Given the description of an element on the screen output the (x, y) to click on. 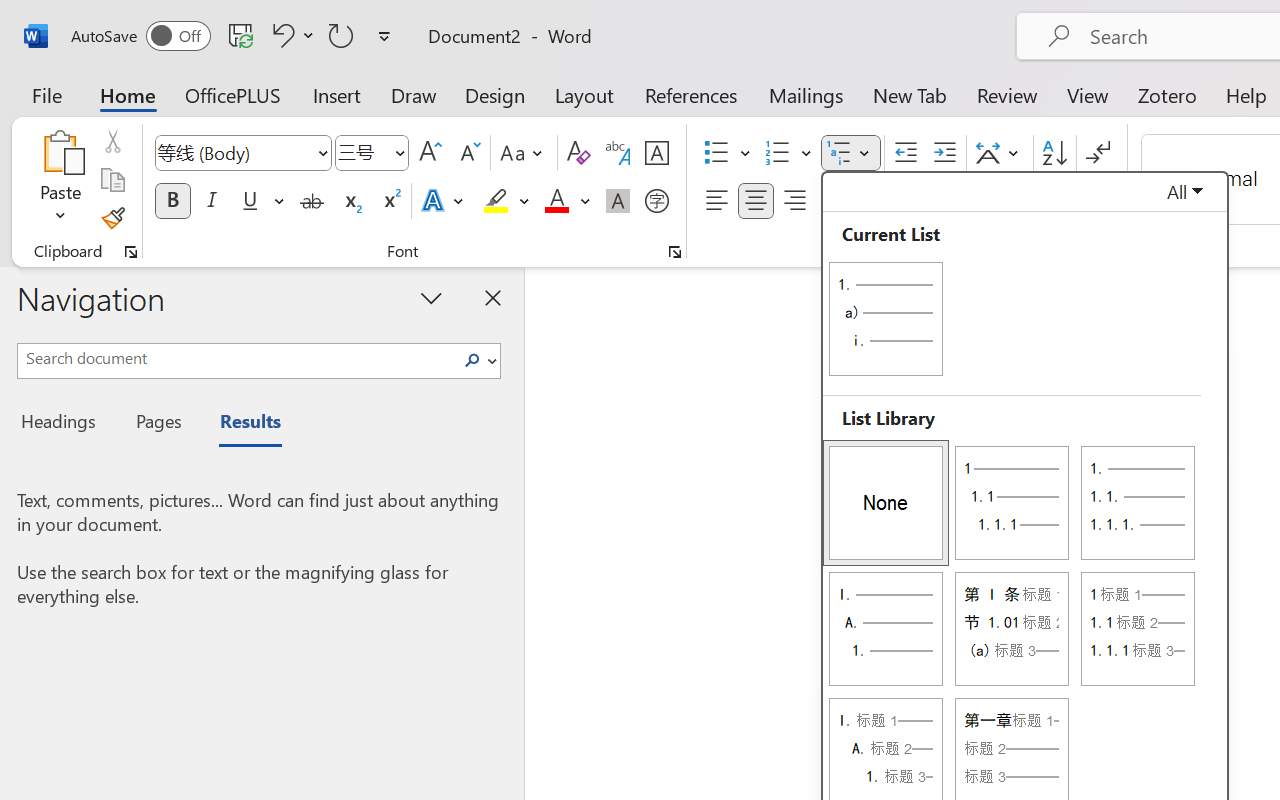
Italic (212, 201)
Center (756, 201)
